Given the description of an element on the screen output the (x, y) to click on. 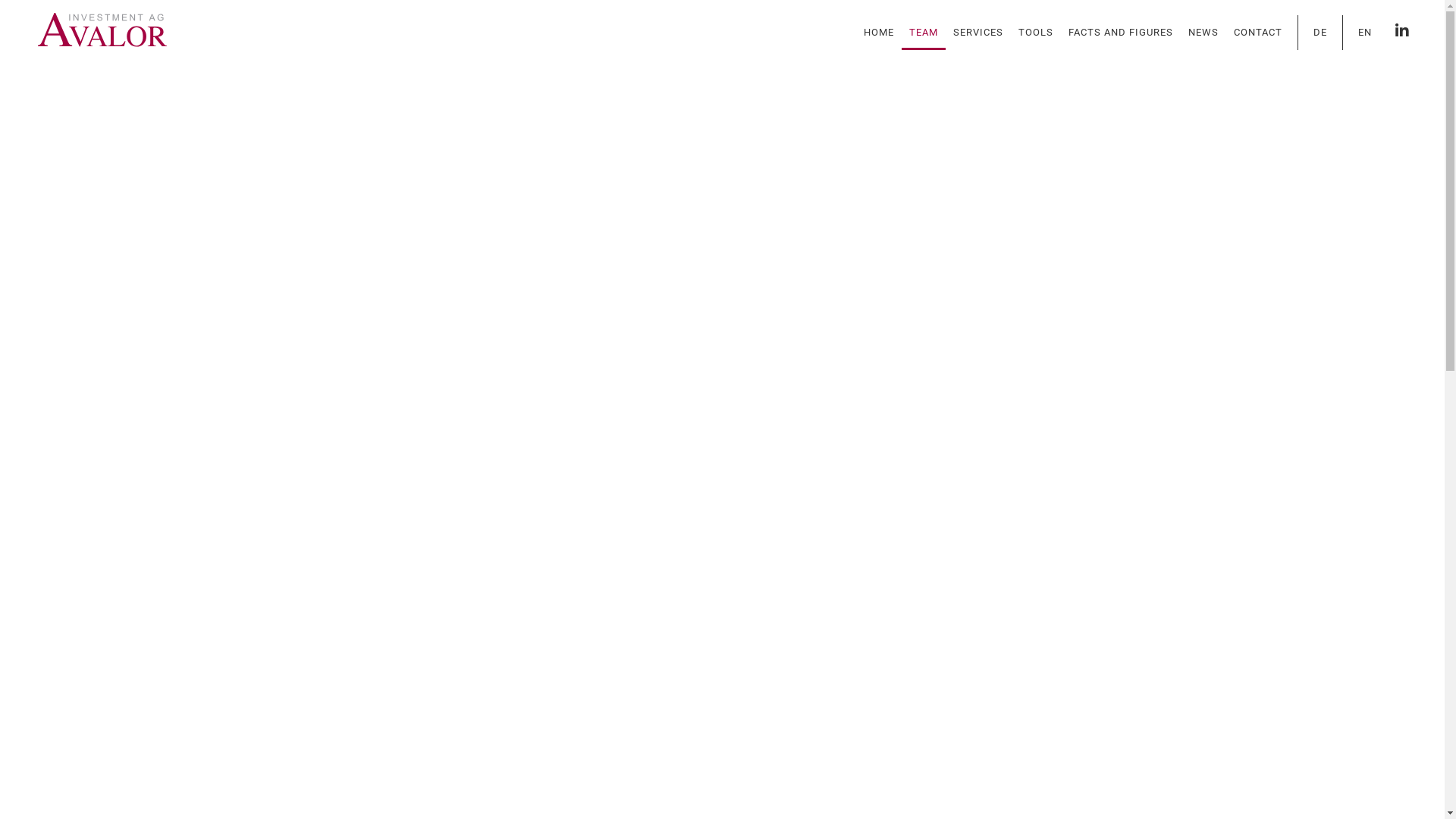
SERVICES Element type: text (977, 32)
TEAM Element type: text (923, 32)
DE Element type: text (1319, 32)
HOME Element type: text (878, 32)
FACTS AND FIGURES Element type: text (1120, 32)
CONTACT Element type: text (1257, 32)
EN Element type: text (1364, 32)
TOOLS Element type: text (1035, 32)
NEWS Element type: text (1203, 32)
